Given the description of an element on the screen output the (x, y) to click on. 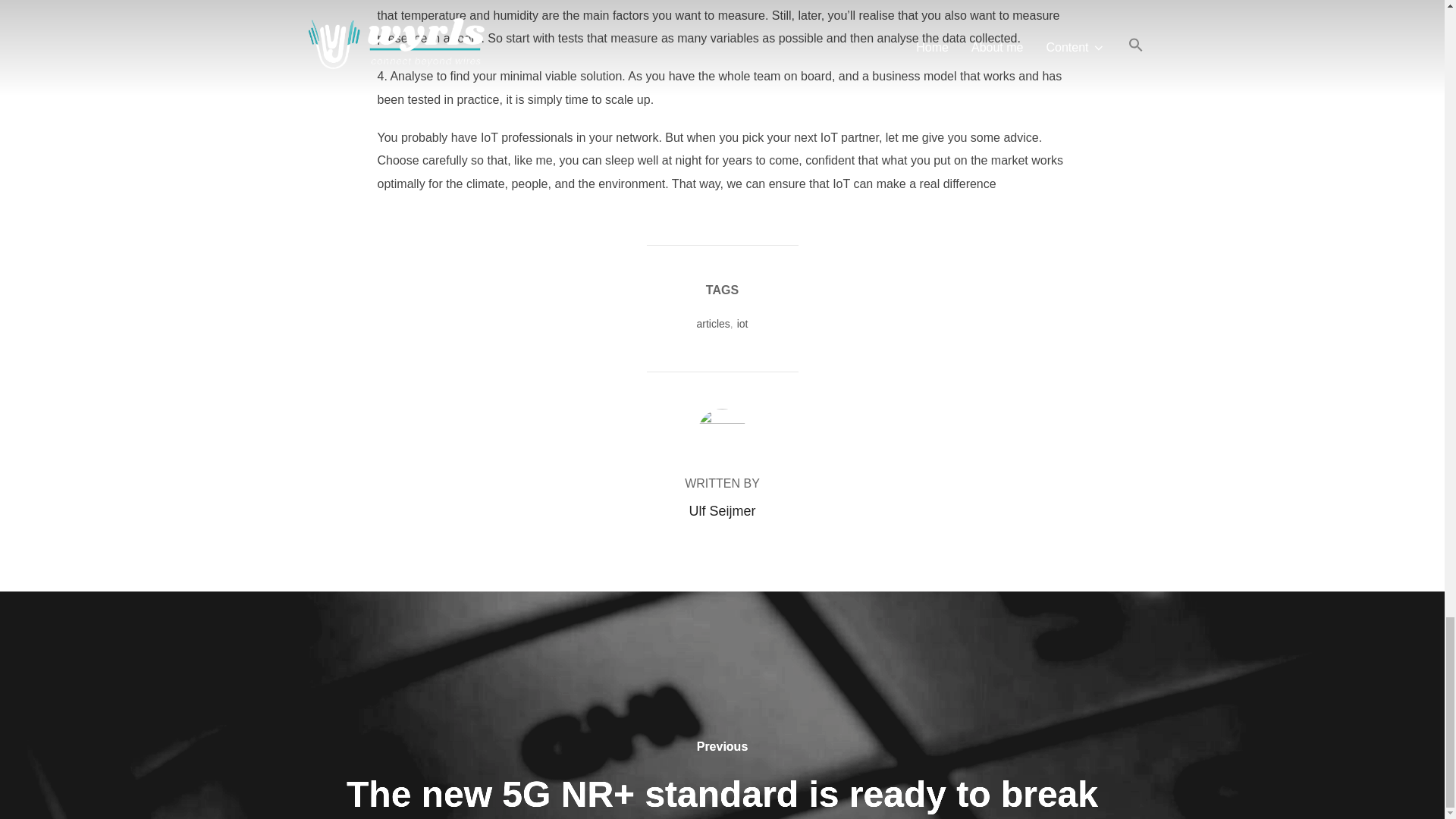
iot (742, 323)
Ulf Seijmer (721, 510)
articles (712, 323)
Posts by Ulf Seijmer (721, 510)
